Given the description of an element on the screen output the (x, y) to click on. 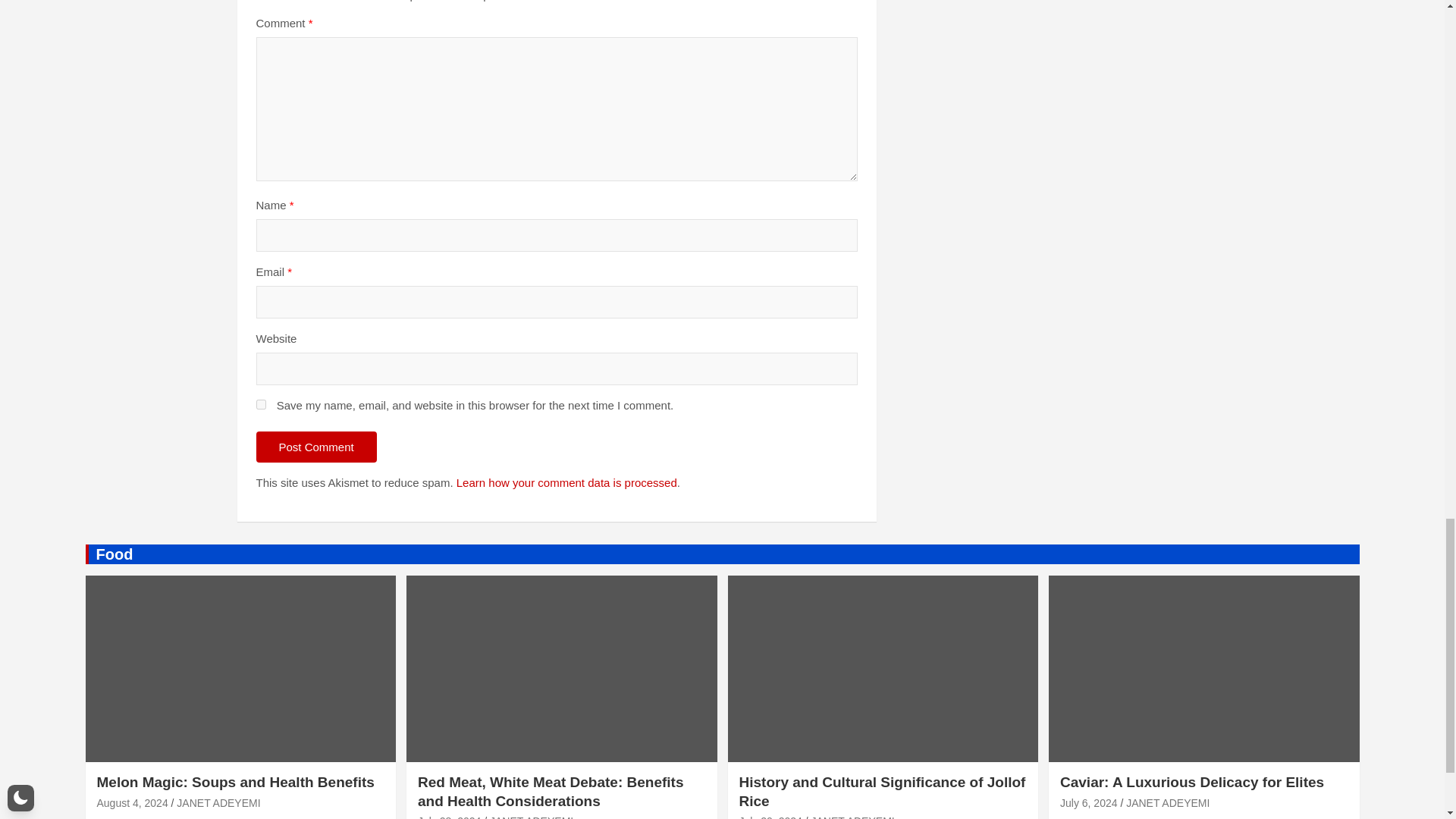
Caviar: A Luxurious Delicacy for Elites (1088, 802)
yes (261, 404)
Post Comment (316, 446)
Melon Magic: Soups and Health Benefits (132, 802)
History and Cultural Significance of Jollof Rice (770, 816)
